Given the description of an element on the screen output the (x, y) to click on. 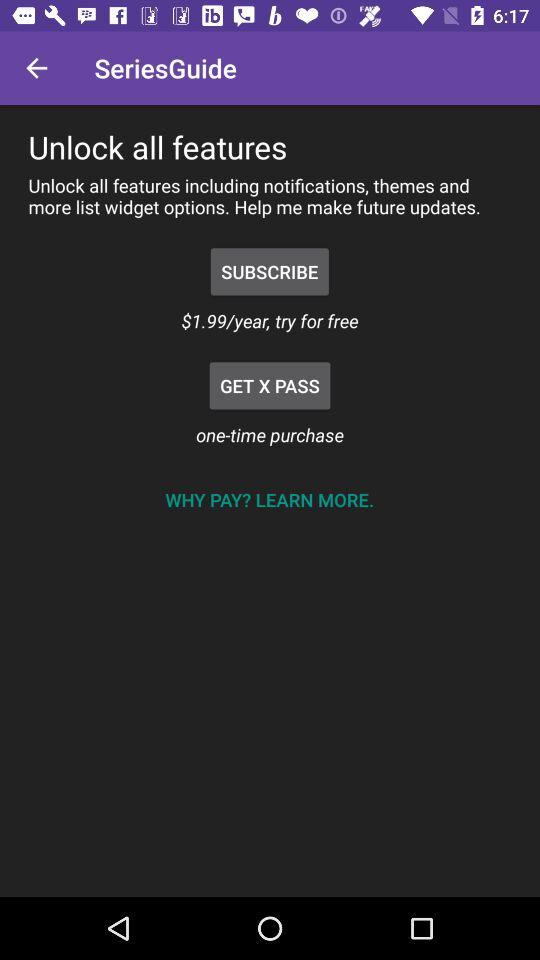
launch the icon next to seriesguide (36, 68)
